Given the description of an element on the screen output the (x, y) to click on. 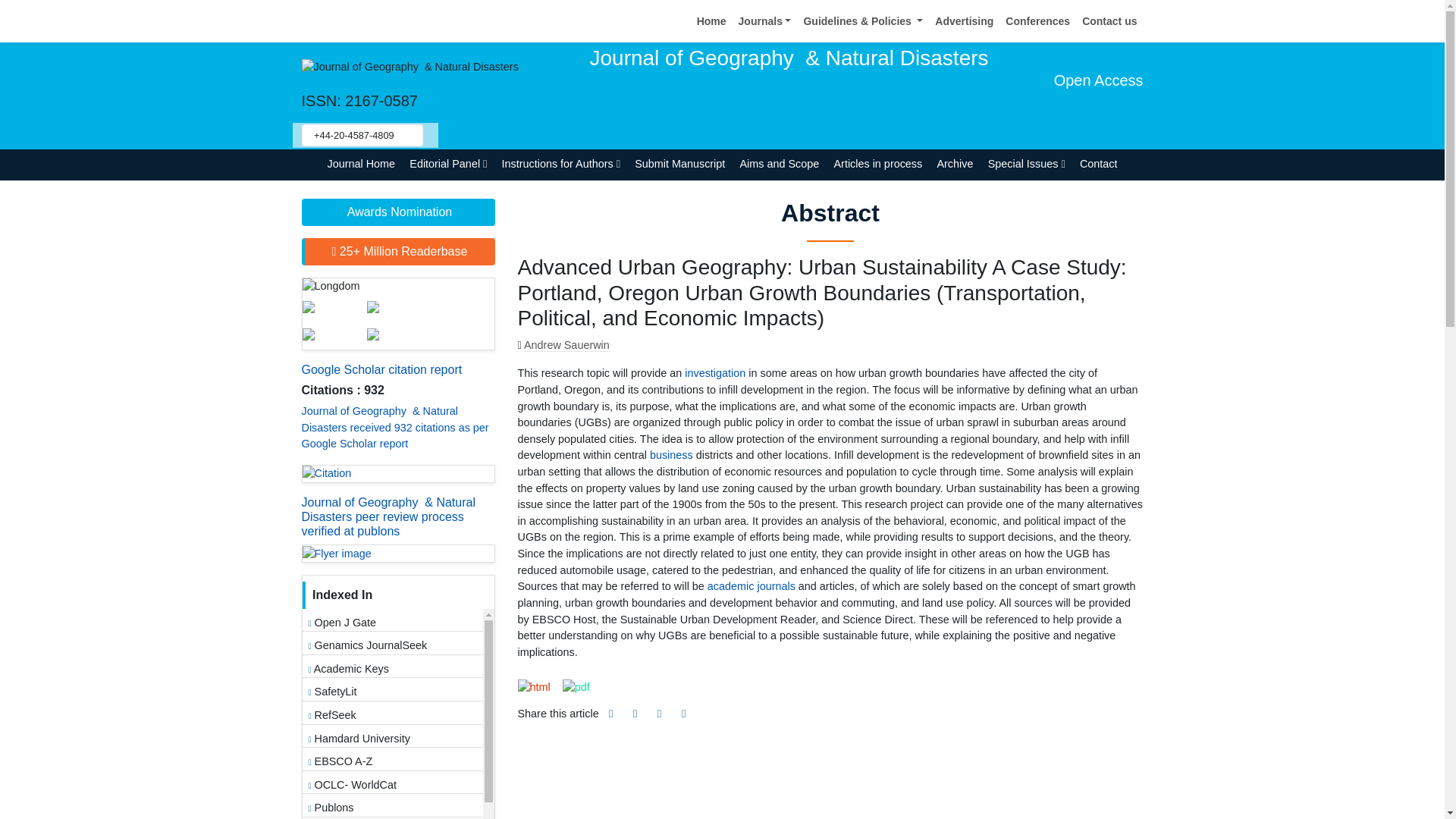
Advertising (963, 21)
Submit Manuscript (679, 164)
Journal Home (361, 164)
Contact us (1108, 21)
Journal Home (361, 164)
Articles in process (878, 164)
Advertising (963, 21)
Special Issues (1025, 164)
Aims and Scope (779, 164)
Conferences (1036, 21)
Contact (1097, 164)
Journals (764, 21)
Conferences (1036, 21)
Editorial Panel (449, 164)
Archive (954, 164)
